Given the description of an element on the screen output the (x, y) to click on. 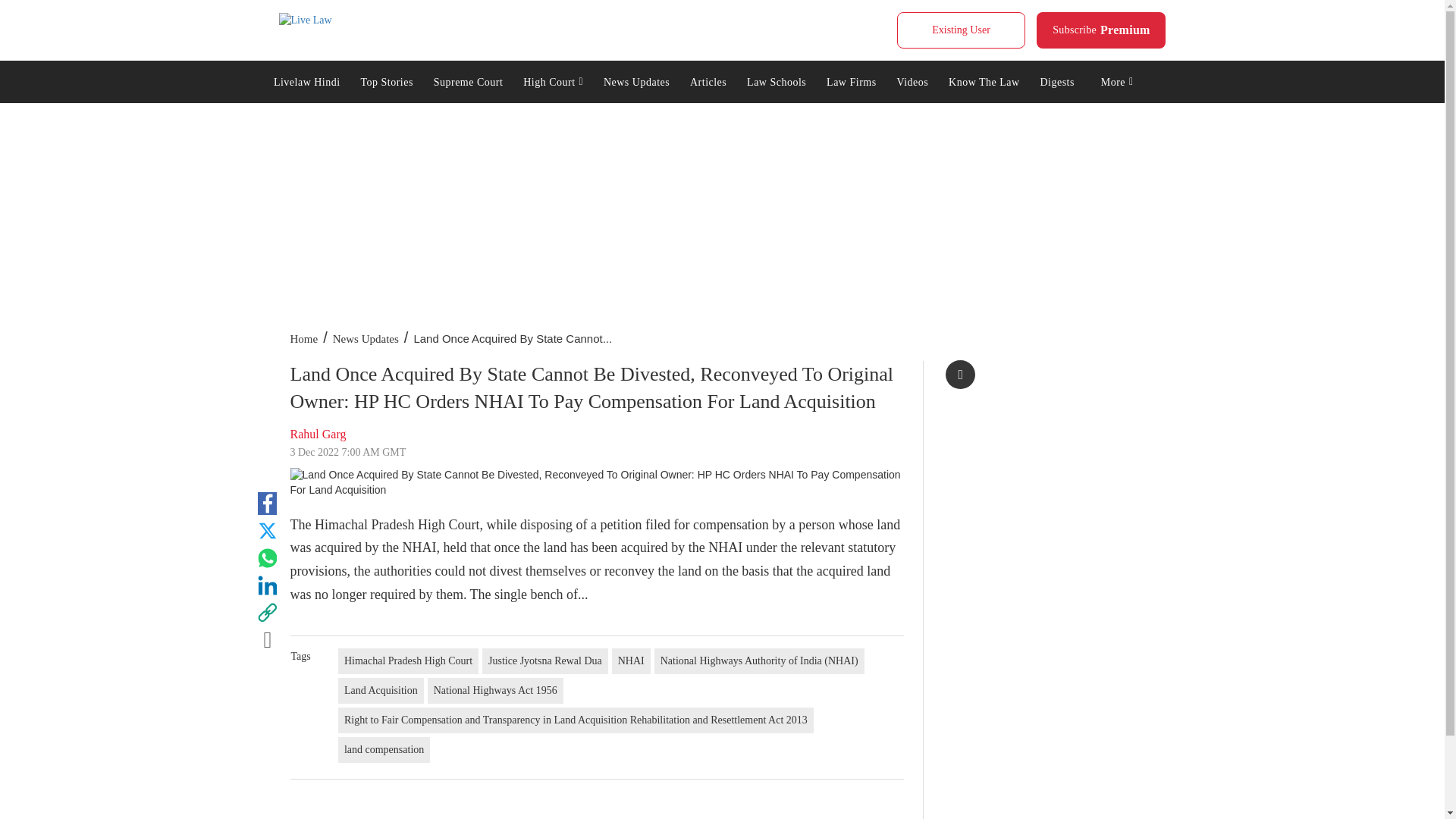
Existing User (960, 30)
Supreme Court (467, 80)
Top Stories (386, 80)
High Court (553, 80)
Livelaw Hindi (306, 80)
Live Law (1101, 30)
